Given the description of an element on the screen output the (x, y) to click on. 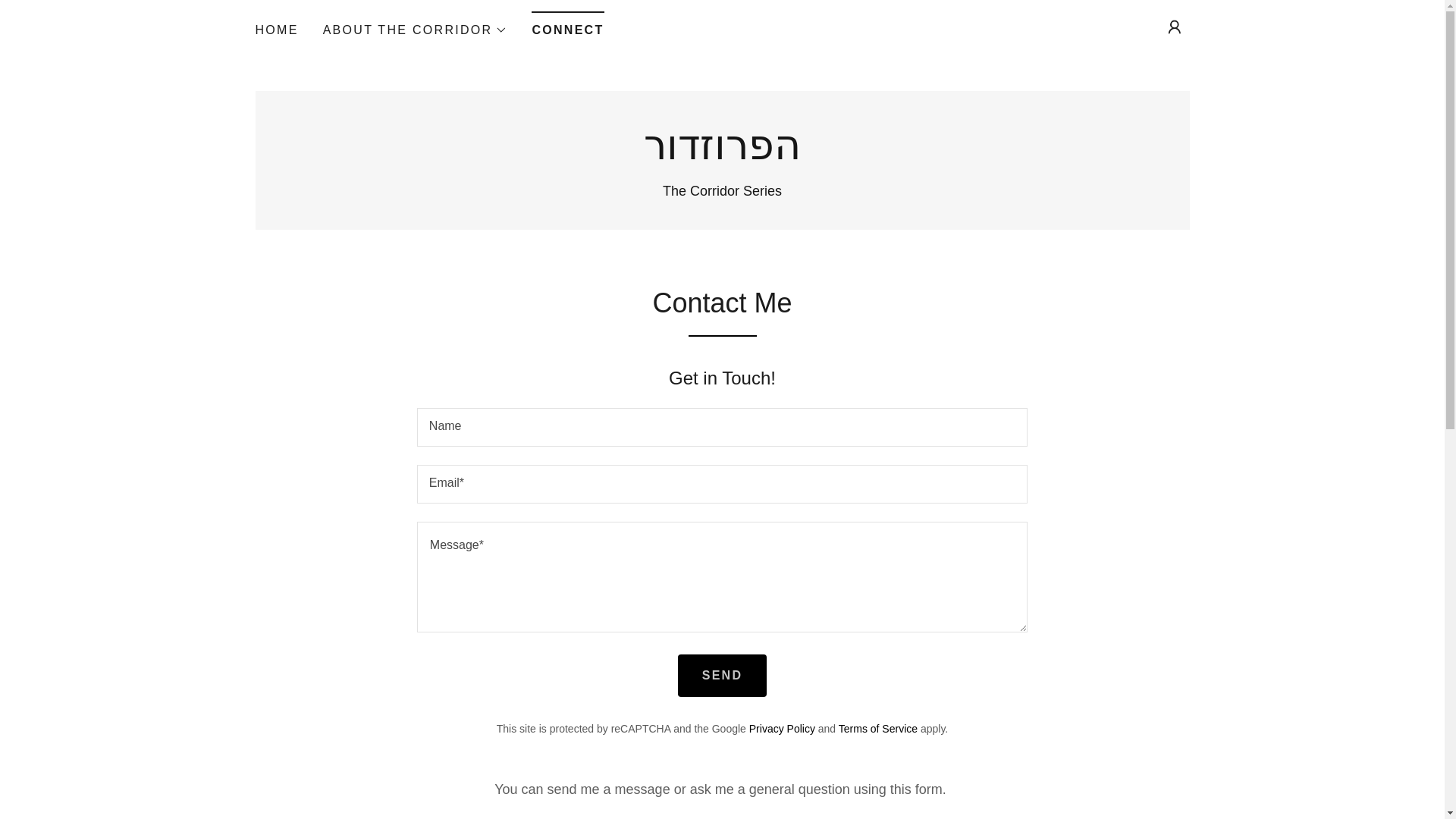
SEND (722, 675)
ABOUT THE CORRIDOR (415, 30)
HOME (276, 30)
Privacy Policy (782, 728)
CONNECT (567, 25)
Terms of Service (877, 728)
